Given the description of an element on the screen output the (x, y) to click on. 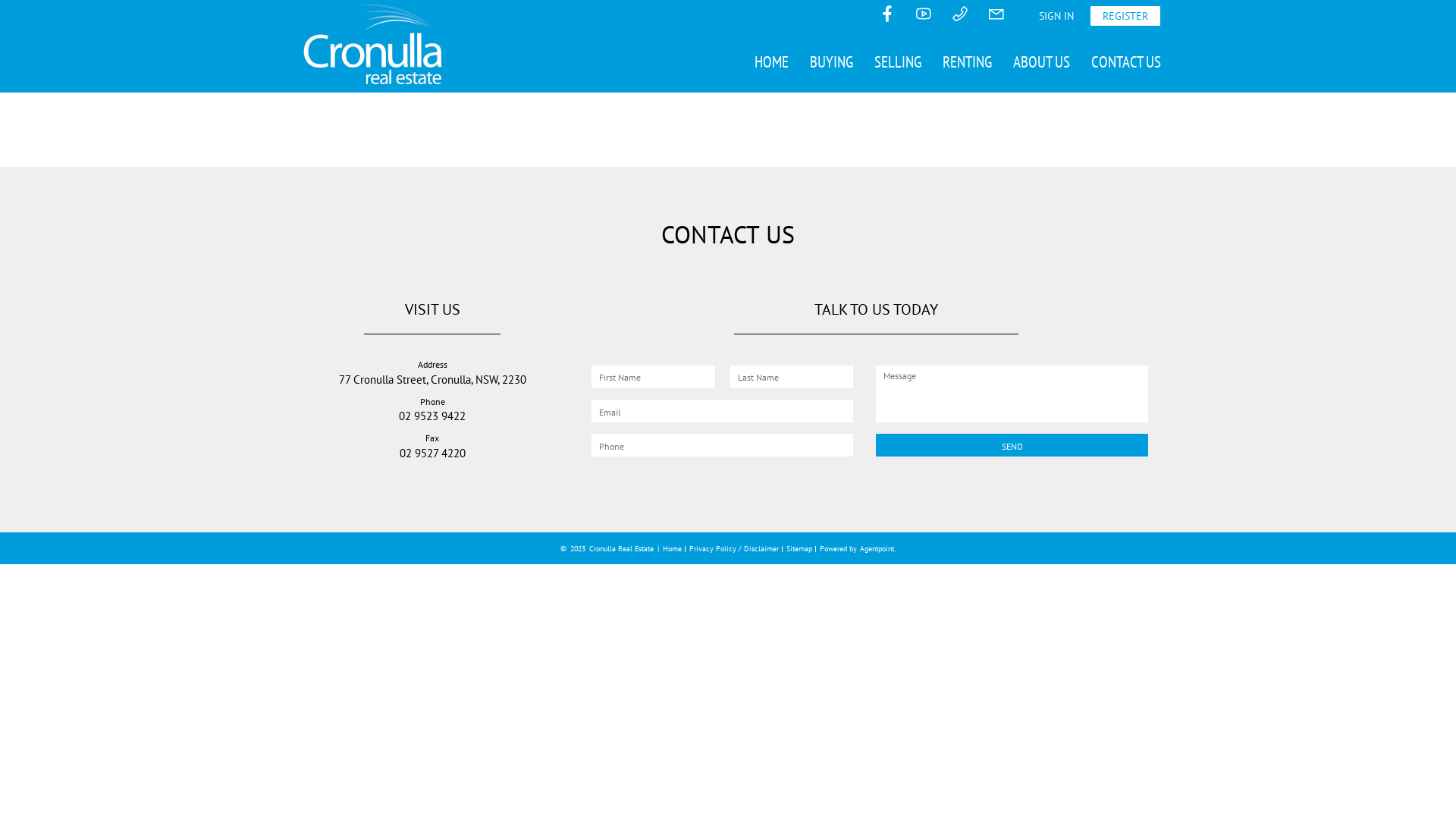
BUYING Element type: text (831, 61)
CONTACT US Element type: text (1125, 61)
Home Element type: text (671, 548)
SEND Element type: text (1011, 444)
Privacy Policy / Disclaimer Element type: text (733, 548)
Agentpoint Element type: text (876, 548)
02 9523 9422 Element type: text (431, 415)
RENTING Element type: text (966, 61)
HOME Element type: text (771, 61)
SELLING Element type: text (897, 61)
Sitemap Element type: text (799, 548)
ABOUT US Element type: text (1041, 61)
SIGN IN Element type: text (1055, 15)
REGISTER Element type: text (1125, 15)
